Given the description of an element on the screen output the (x, y) to click on. 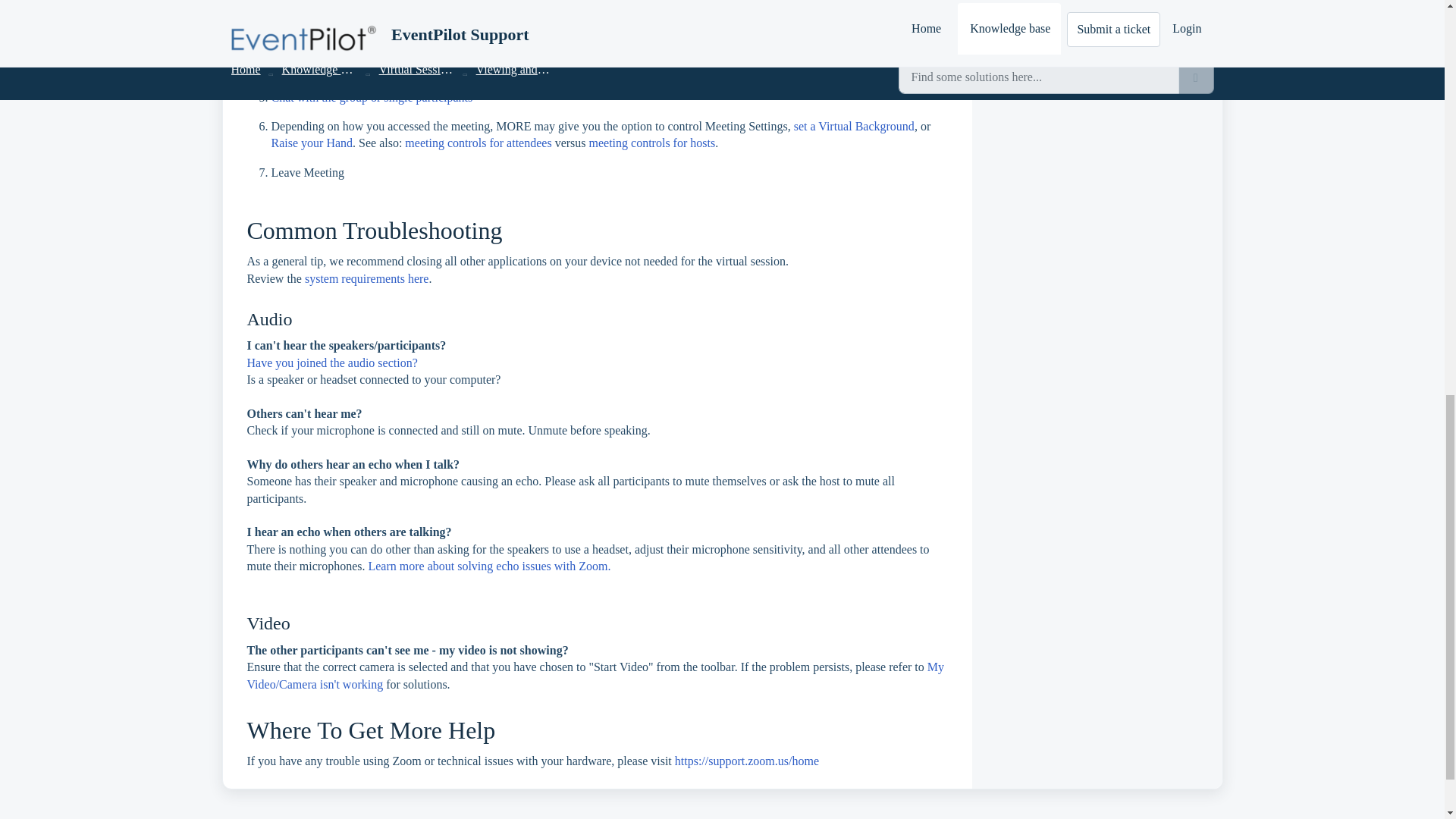
Learn more about solving echo issues with Zoom. (489, 565)
Chat with the group or single participants (371, 97)
system requirements here (366, 278)
Raise your Hand (311, 142)
meeting controls for hosts (652, 142)
meeting controls for attendees (477, 142)
set a Virtual Background (853, 125)
Share screen (301, 67)
Have you joined the audio section?  (333, 362)
